Given the description of an element on the screen output the (x, y) to click on. 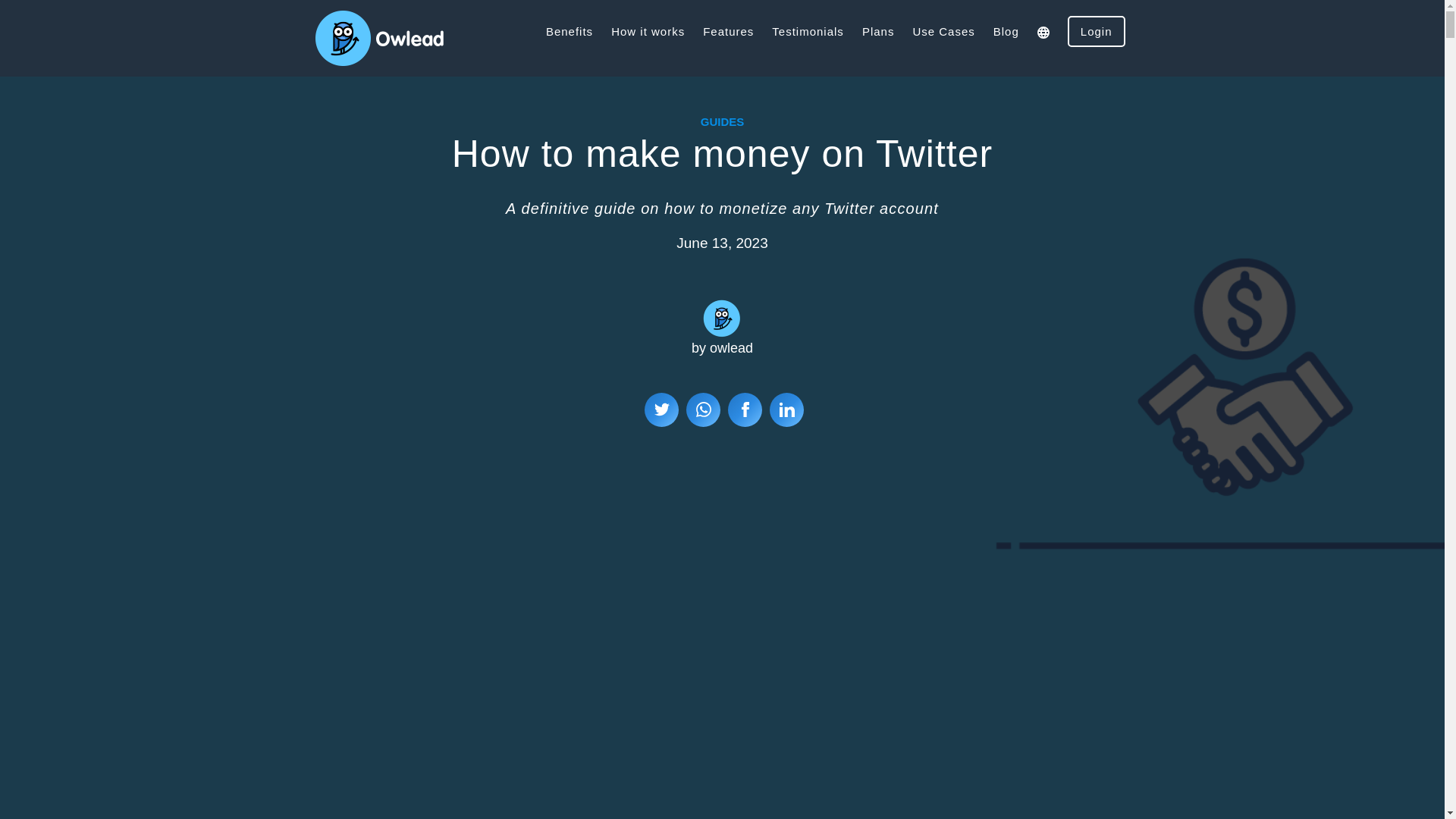
Features (728, 31)
Use Cases (943, 31)
Plans (878, 31)
Benefits (569, 31)
How it works (647, 31)
Features (728, 32)
Benefits (569, 32)
Blog (1005, 31)
Login (1096, 30)
Testimonials (807, 32)
Testimonials (807, 31)
How it works (648, 32)
